Given the description of an element on the screen output the (x, y) to click on. 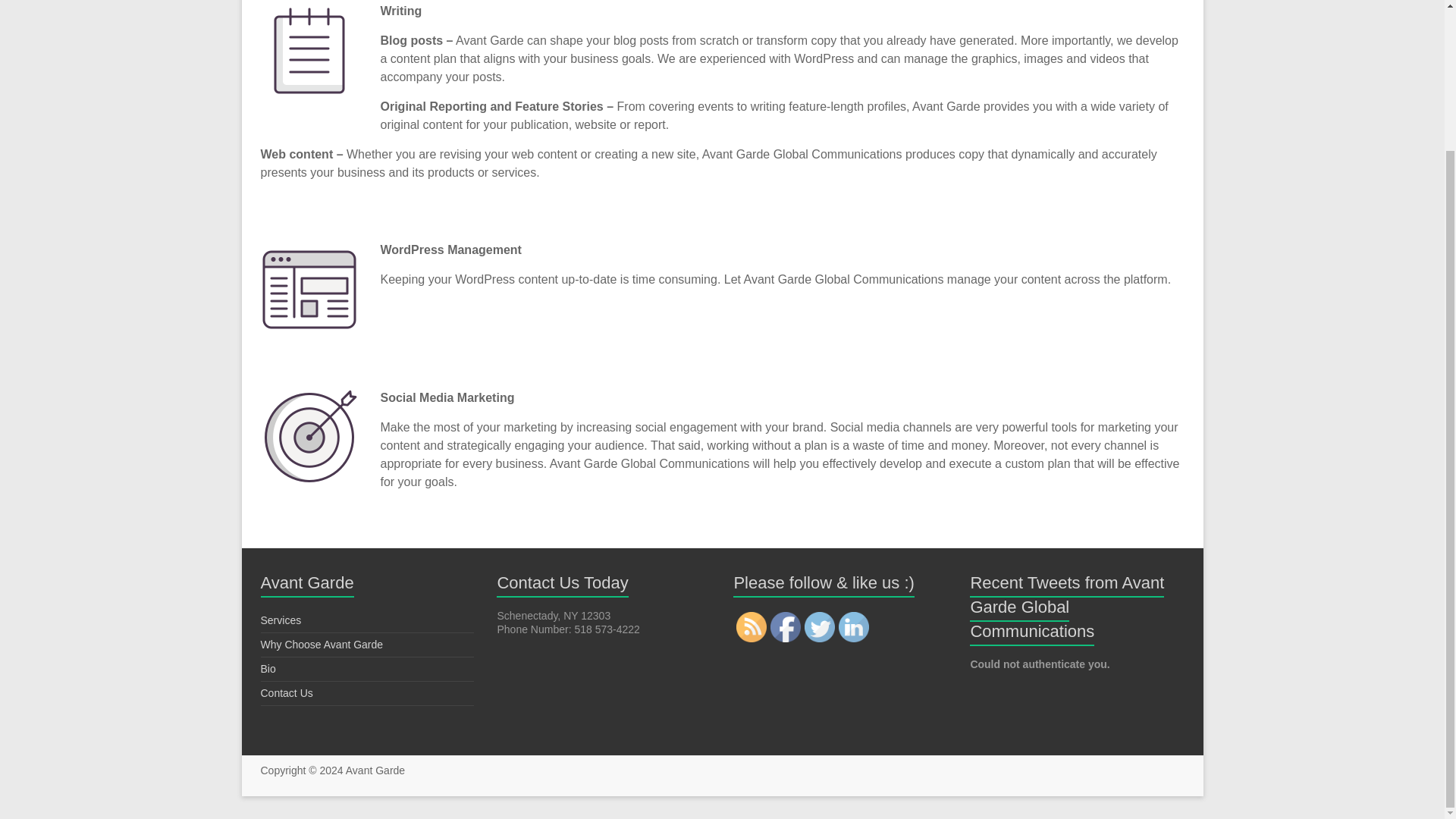
Avant Garde (375, 770)
Avant Garde (375, 770)
Contact Us (286, 693)
Bio (268, 668)
RSS (751, 626)
LinkedIn (853, 626)
Services (280, 620)
Twitter (819, 626)
Facebook (785, 626)
Why Choose Avant Garde (322, 644)
